Given the description of an element on the screen output the (x, y) to click on. 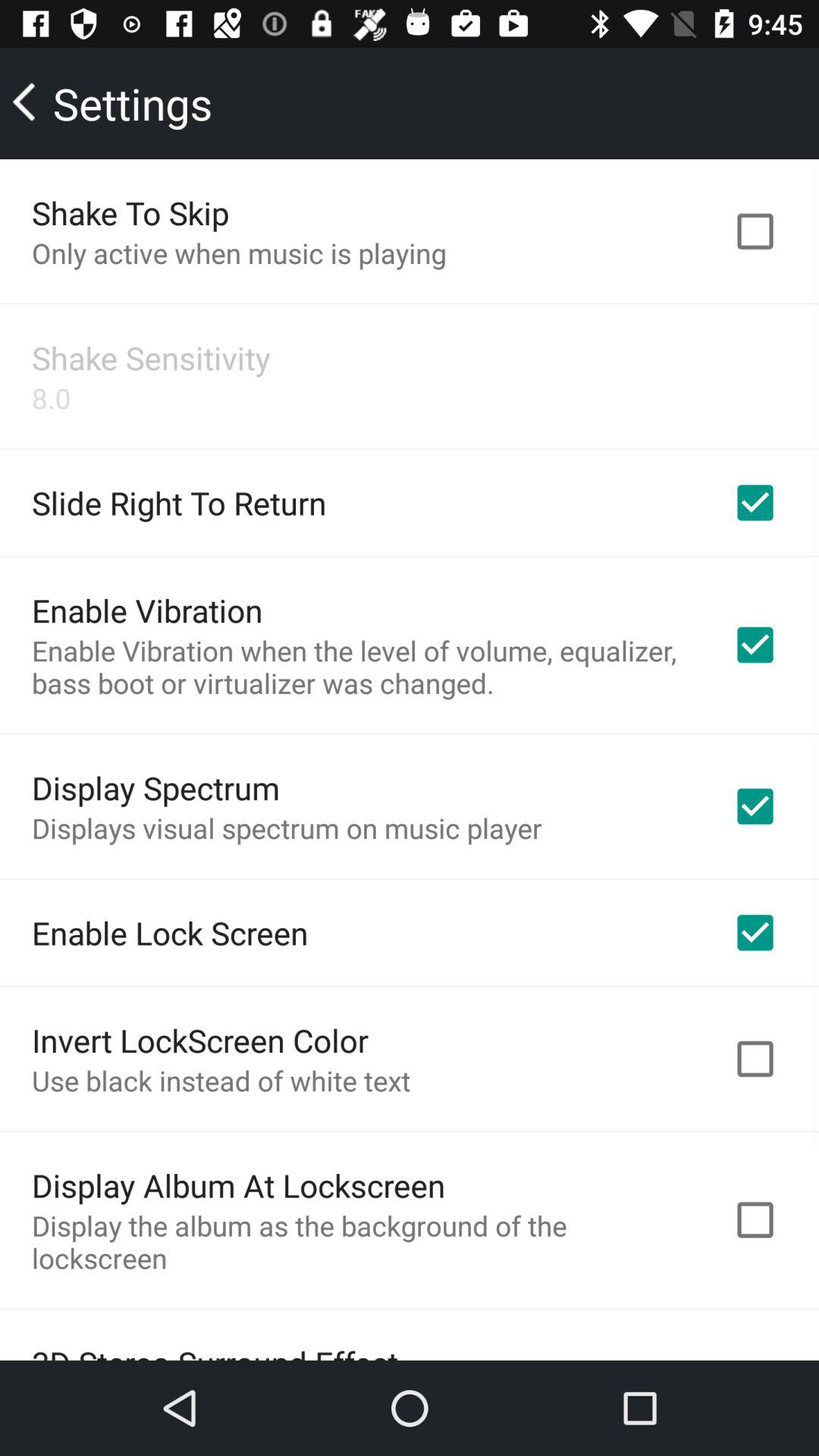
tap the only active when (238, 252)
